Given the description of an element on the screen output the (x, y) to click on. 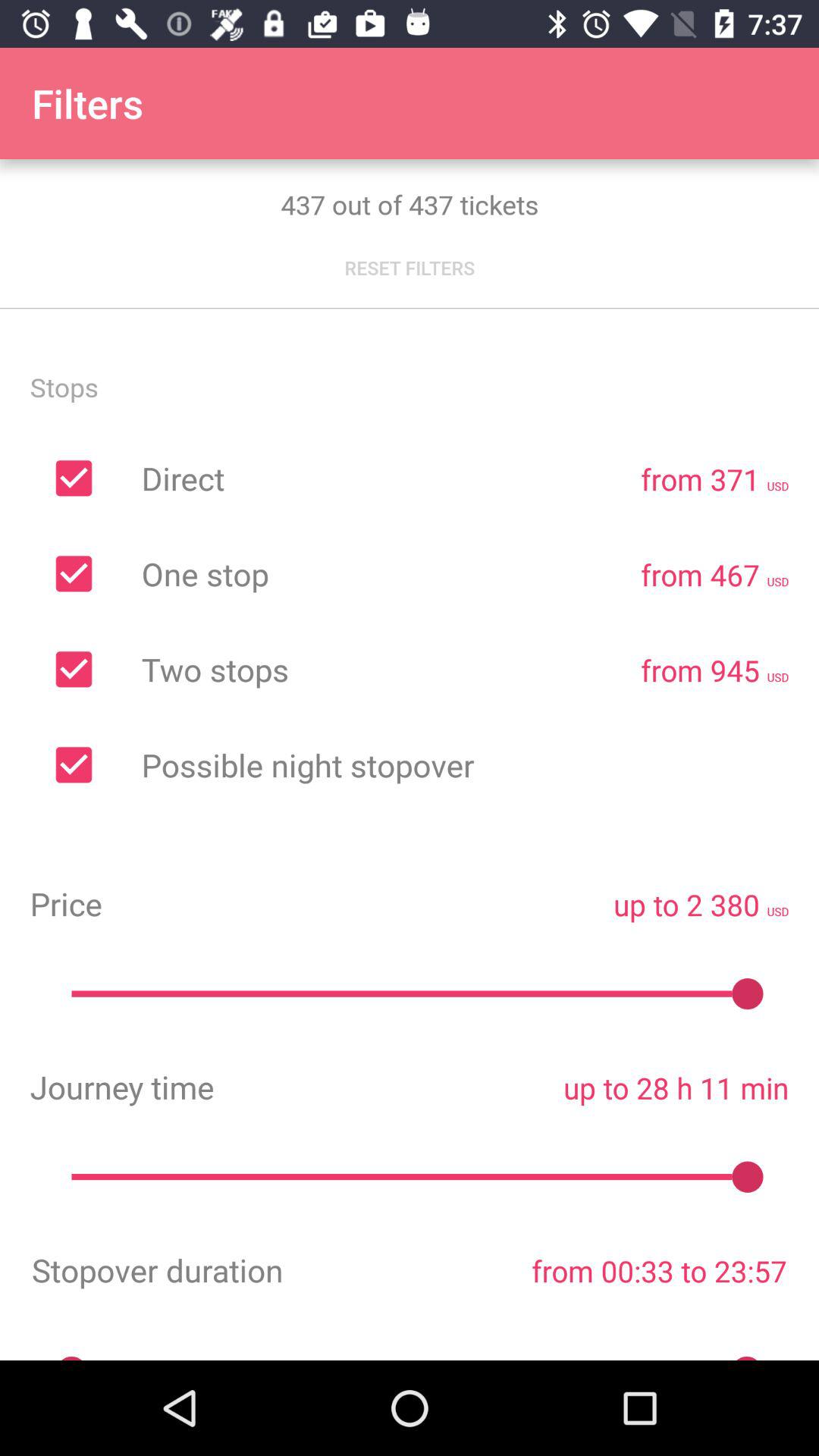
select the item below 437 out of icon (409, 268)
